Given the description of an element on the screen output the (x, y) to click on. 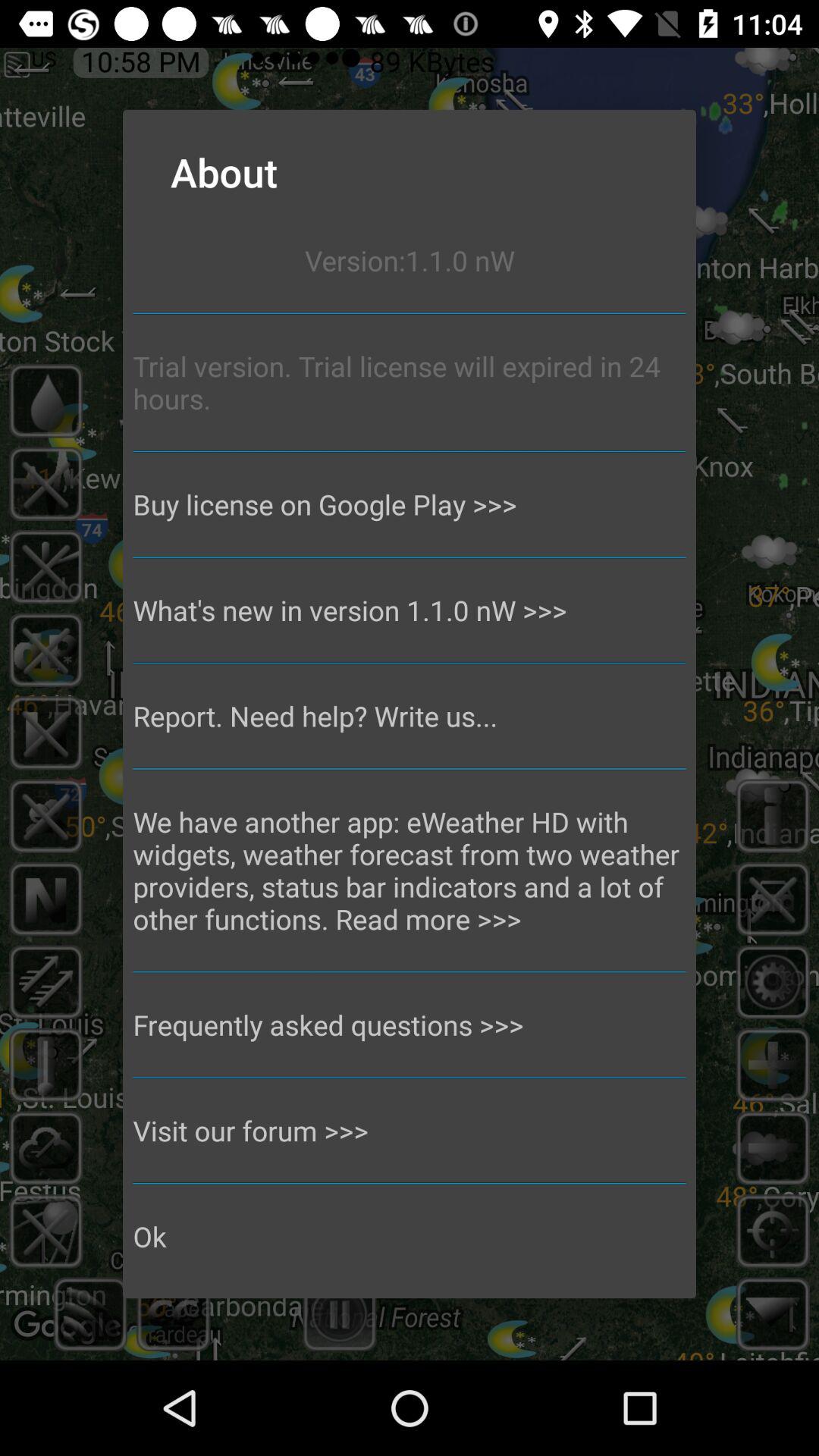
scroll to the frequently asked questions >>> item (409, 1024)
